Given the description of an element on the screen output the (x, y) to click on. 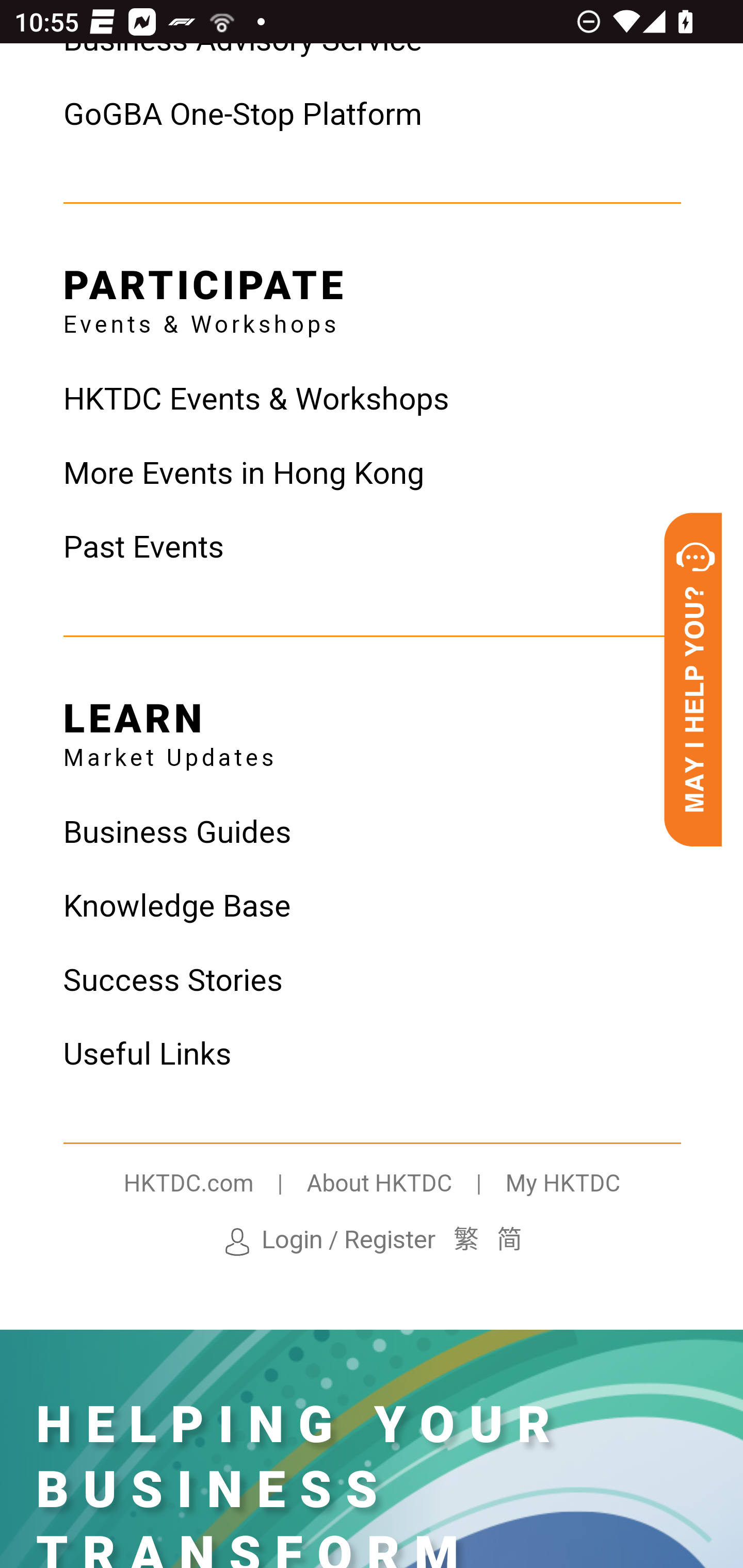
PARTICIPATE Events & Workshops (204, 295)
LEARN Market Updates (169, 728)
HKTDC.com |  HKTDC.com  |  (214, 1185)
About HKTDC |  About HKTDC  |  (404, 1185)
My HKTDC (562, 1185)
HELPING YOUR BUSINESS TRANSFORM (300, 1481)
